Given the description of an element on the screen output the (x, y) to click on. 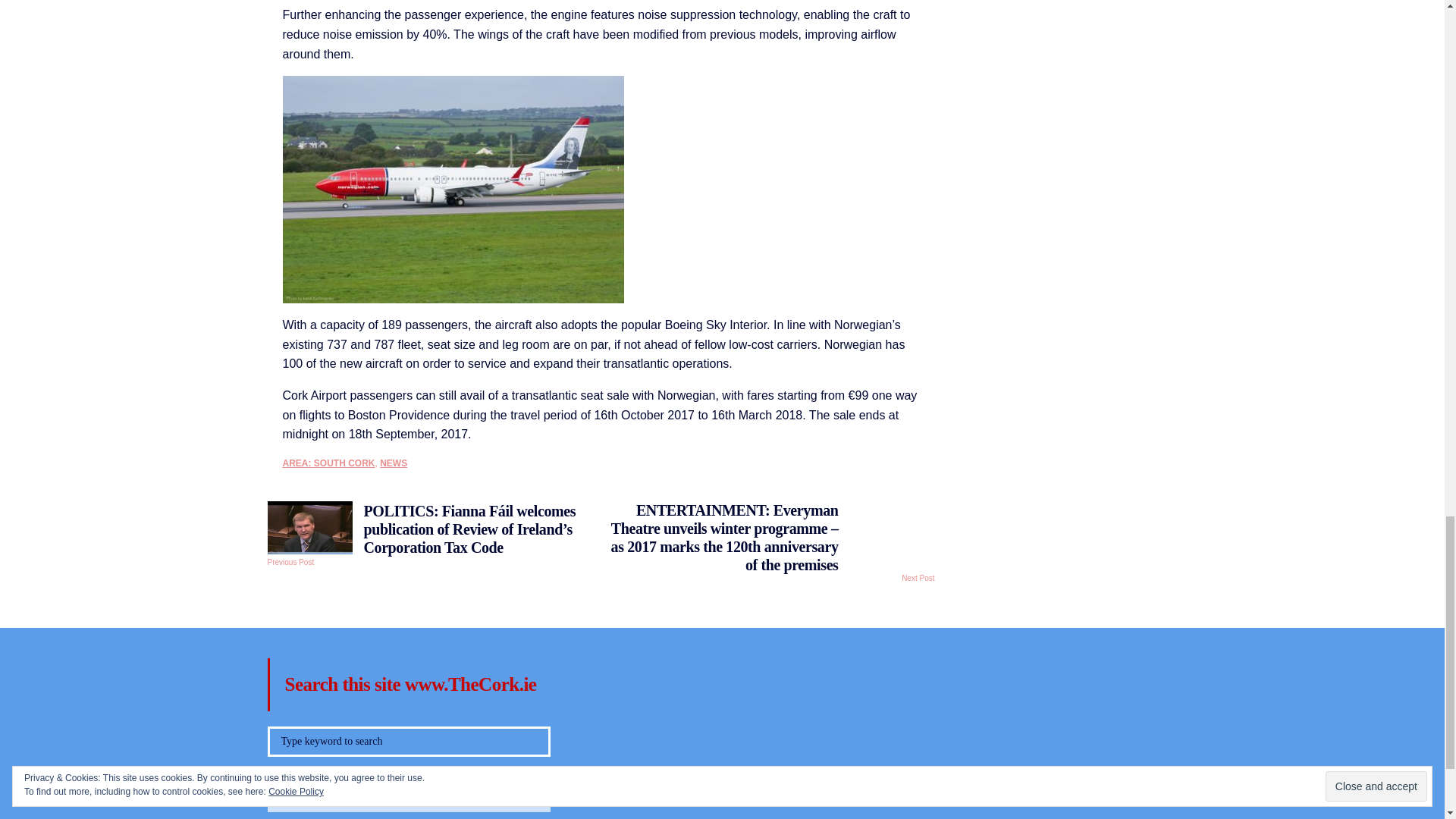
Type keyword to search (408, 741)
Type keyword to search (408, 741)
